Given the description of an element on the screen output the (x, y) to click on. 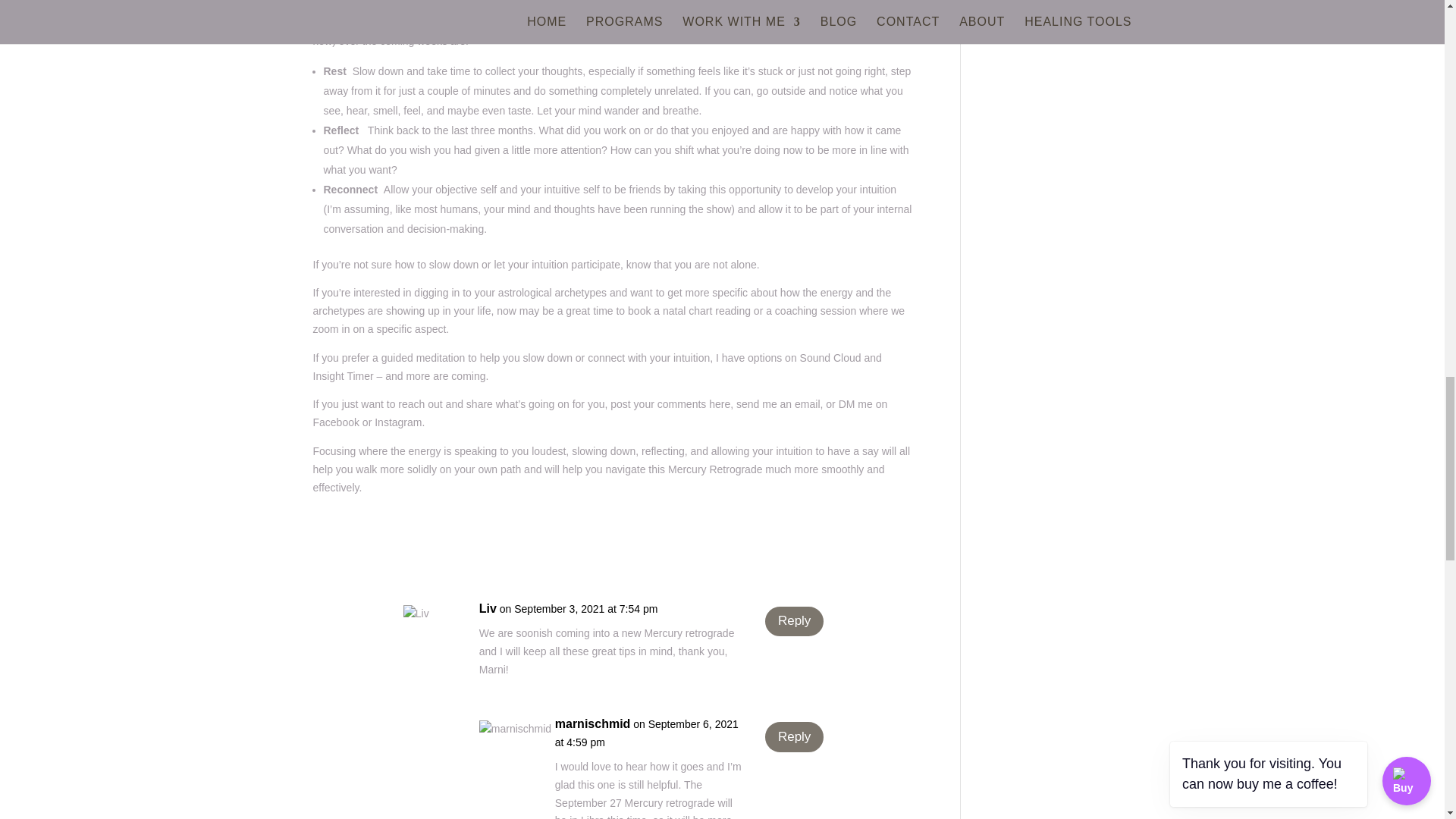
Reply (793, 621)
email (806, 404)
coaching session (815, 310)
Facebook (335, 422)
Instagram (398, 422)
book a natal chart reading (689, 310)
Sound Cloud (830, 357)
Insight Timer (342, 376)
